Given the description of an element on the screen output the (x, y) to click on. 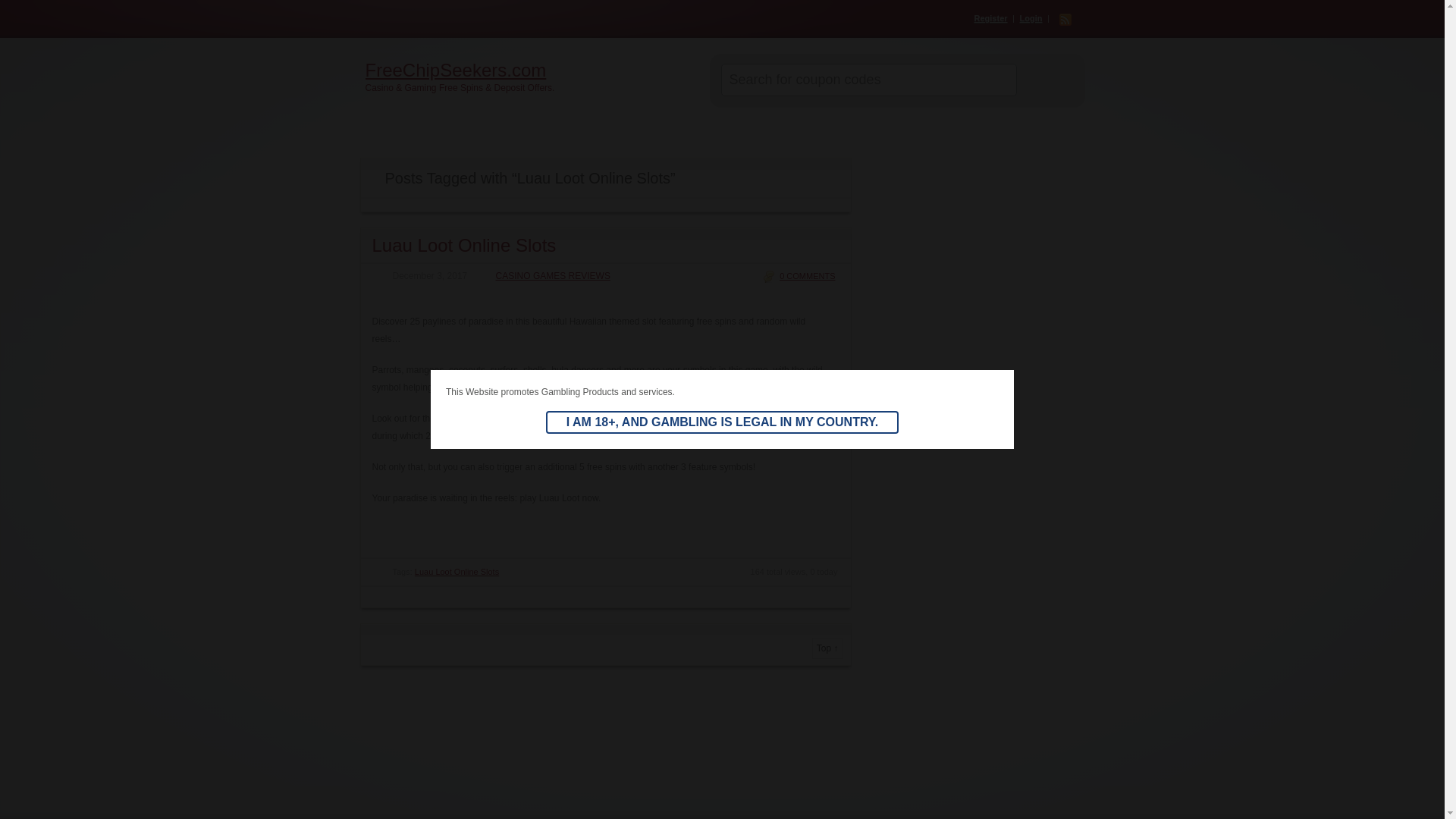
Register (990, 17)
Luau Loot Online Slots (463, 245)
RSS (1064, 19)
0 COMMENTS (798, 275)
FreeChipSeekers.com (535, 69)
Search (1043, 80)
FreeChipSeekers.com (535, 69)
CASINO GAMES REVIEWS (544, 276)
Search (1043, 80)
Login (1031, 17)
